Given the description of an element on the screen output the (x, y) to click on. 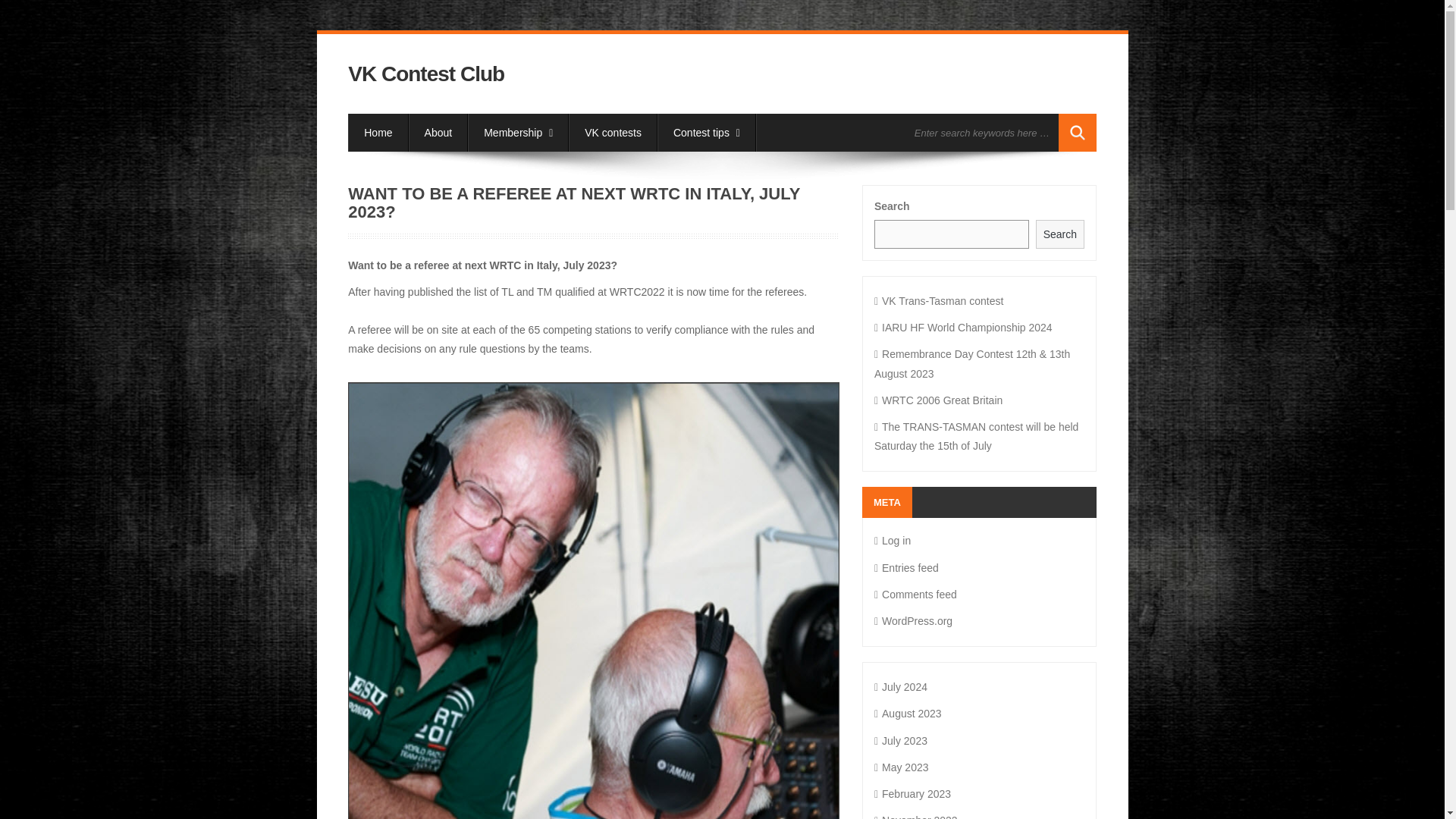
VK Contest Club (425, 73)
About (438, 132)
Contest tips (706, 132)
February 2023 (912, 793)
Home (377, 132)
Membership (518, 132)
Log in (893, 540)
VK contests (613, 132)
IARU HF World Championship 2024 (963, 327)
May 2023 (901, 767)
Comments feed (915, 594)
July 2023 (901, 739)
November 2022 (916, 816)
WRTC 2006 Great Britain (939, 399)
